Given the description of an element on the screen output the (x, y) to click on. 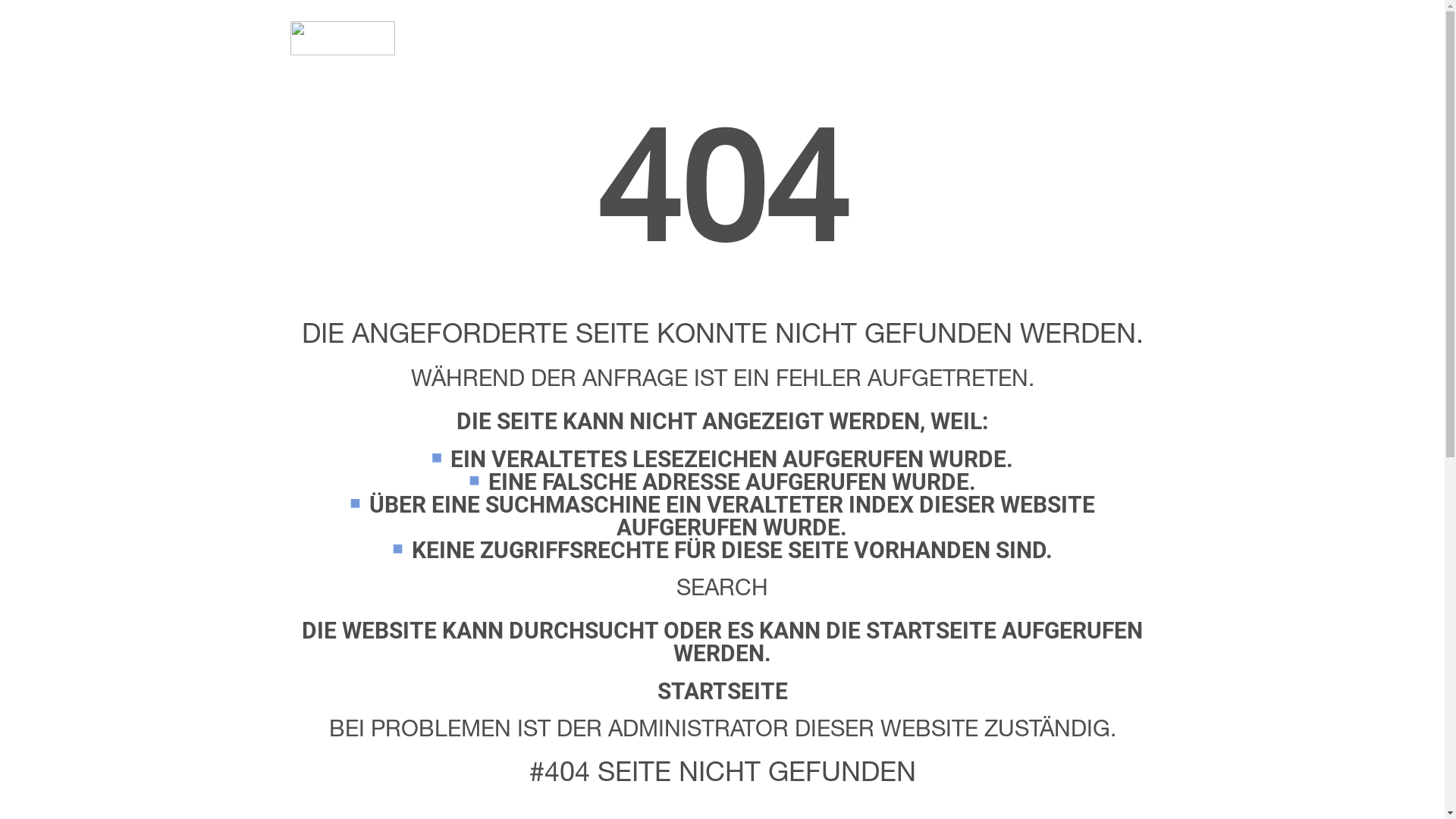
STARTSEITE Element type: text (721, 690)
Startseite Element type: hover (341, 38)
